Given the description of an element on the screen output the (x, y) to click on. 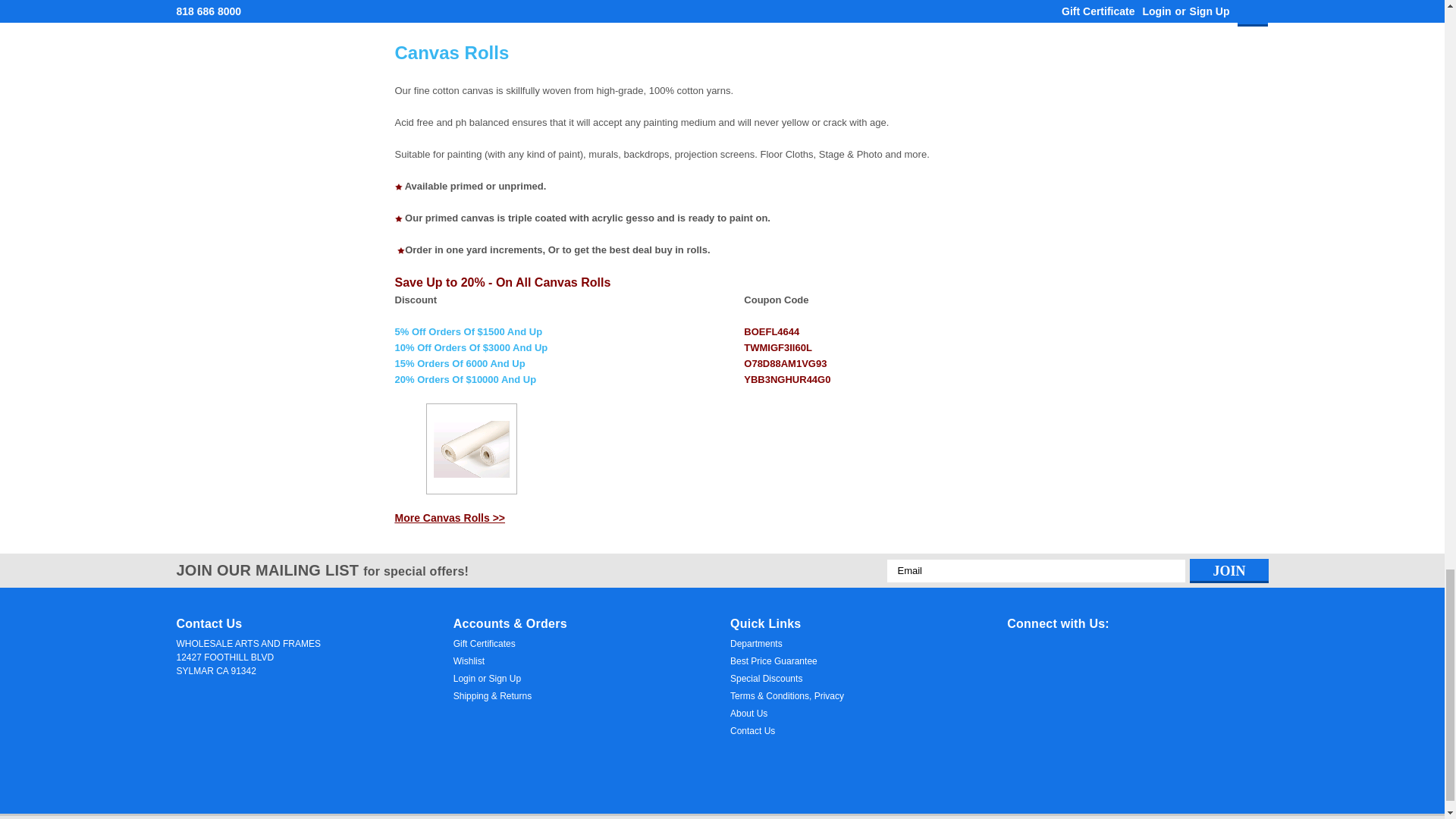
star-bullet.jpg (397, 218)
Join (1228, 570)
star-bullet.jpg (397, 186)
star-bullet.jpg (400, 250)
